Given the description of an element on the screen output the (x, y) to click on. 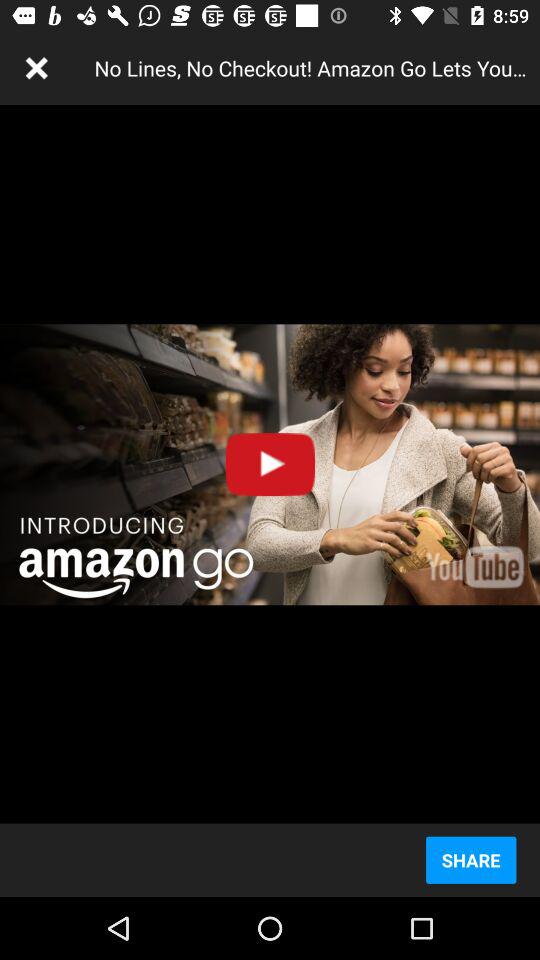
turn on the icon above share item (270, 464)
